Given the description of an element on the screen output the (x, y) to click on. 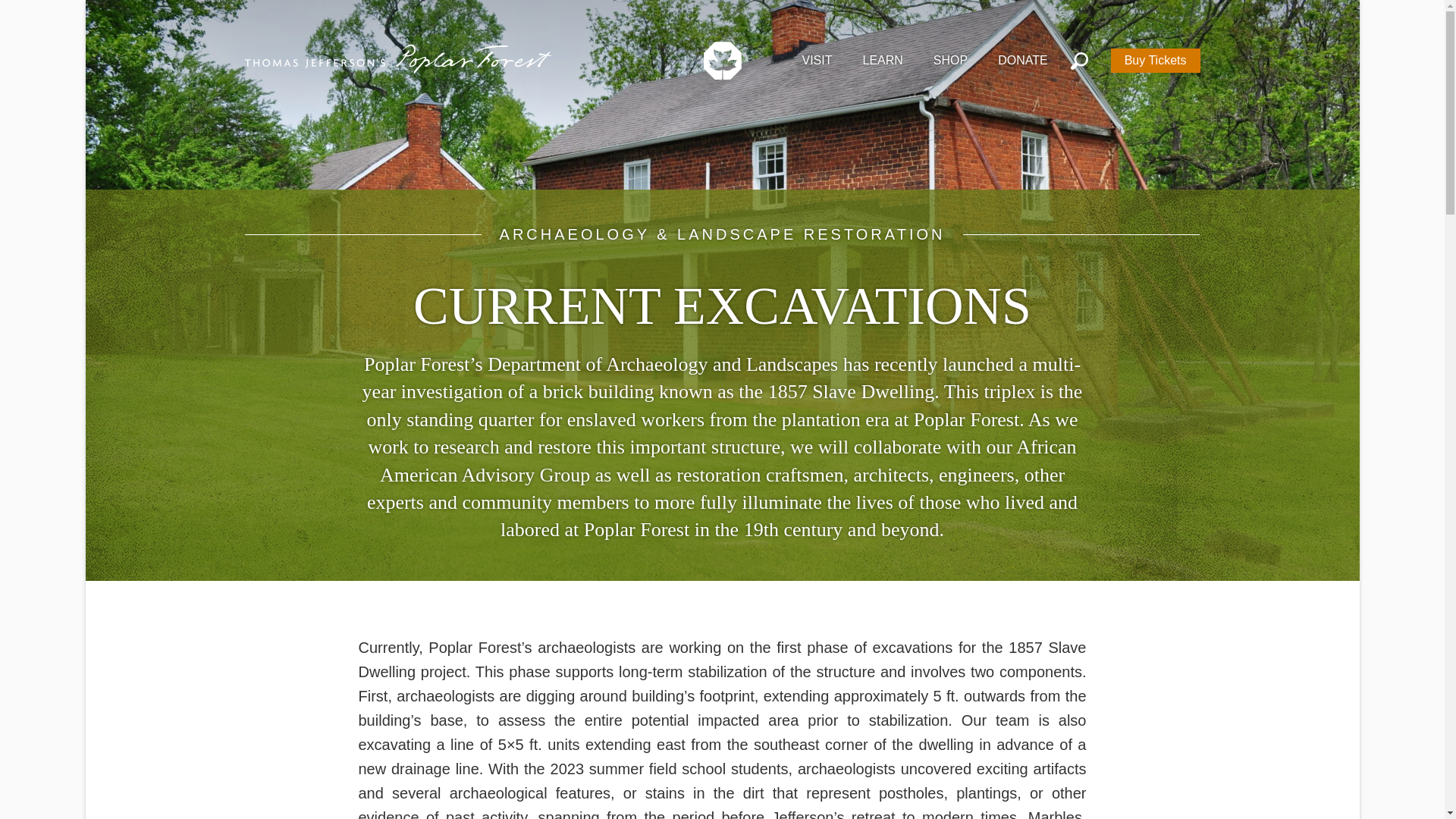
DONATE (1021, 58)
SHOP (950, 58)
VISIT (816, 58)
LEARN (882, 58)
Buy Tickets (1154, 60)
